Given the description of an element on the screen output the (x, y) to click on. 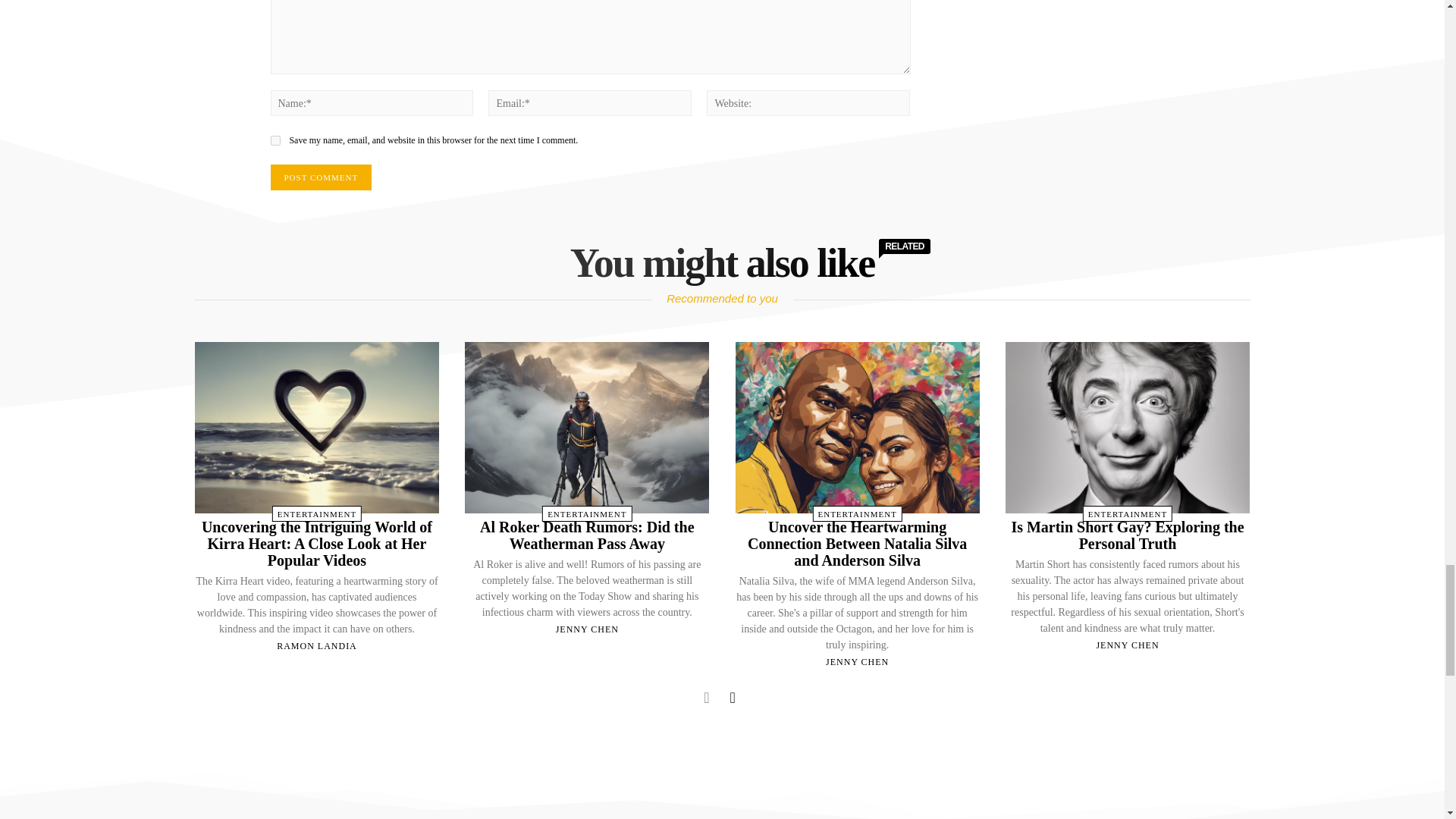
Post Comment (320, 177)
yes (274, 140)
